Given the description of an element on the screen output the (x, y) to click on. 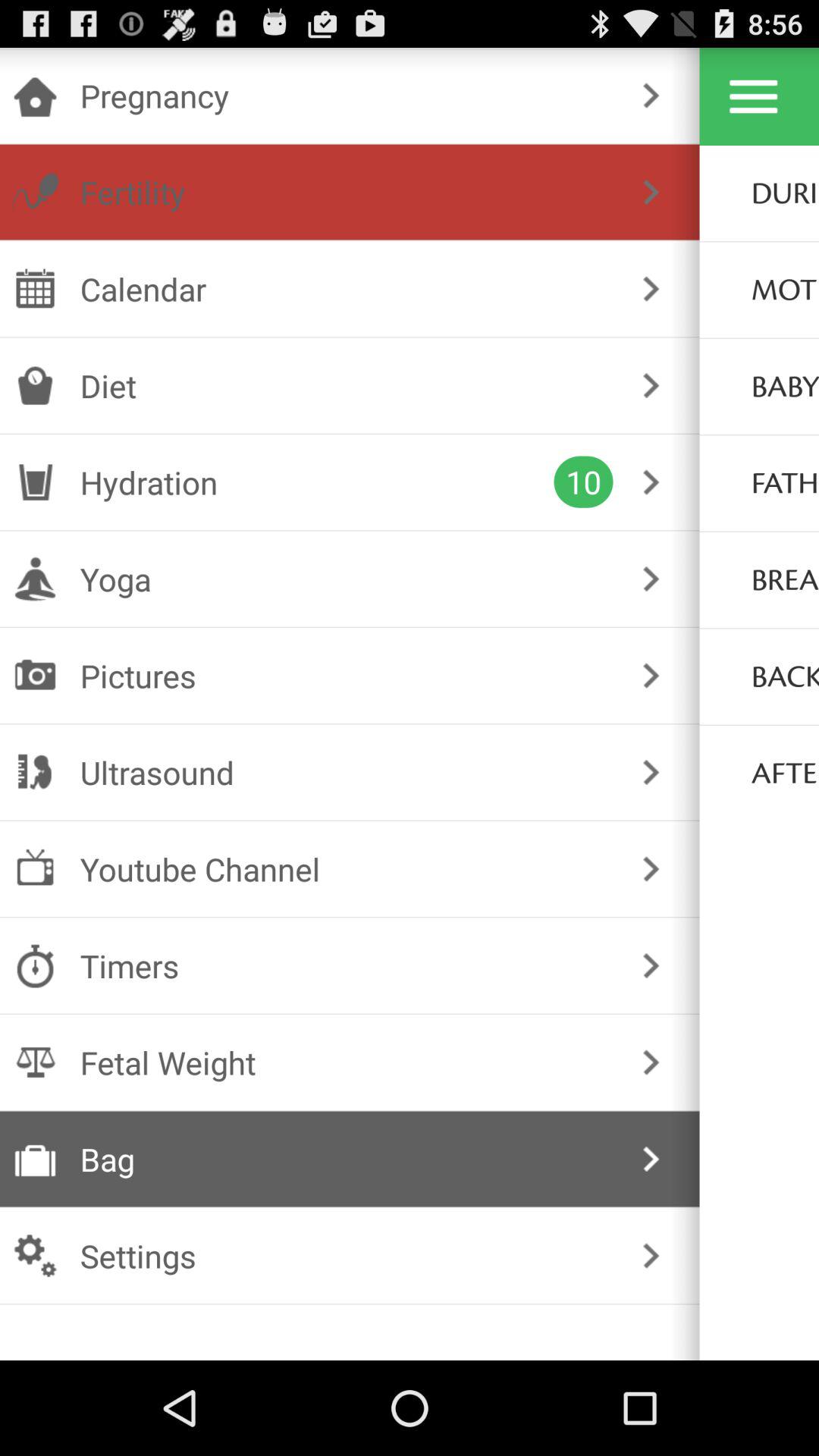
toggle menu options (753, 96)
